Given the description of an element on the screen output the (x, y) to click on. 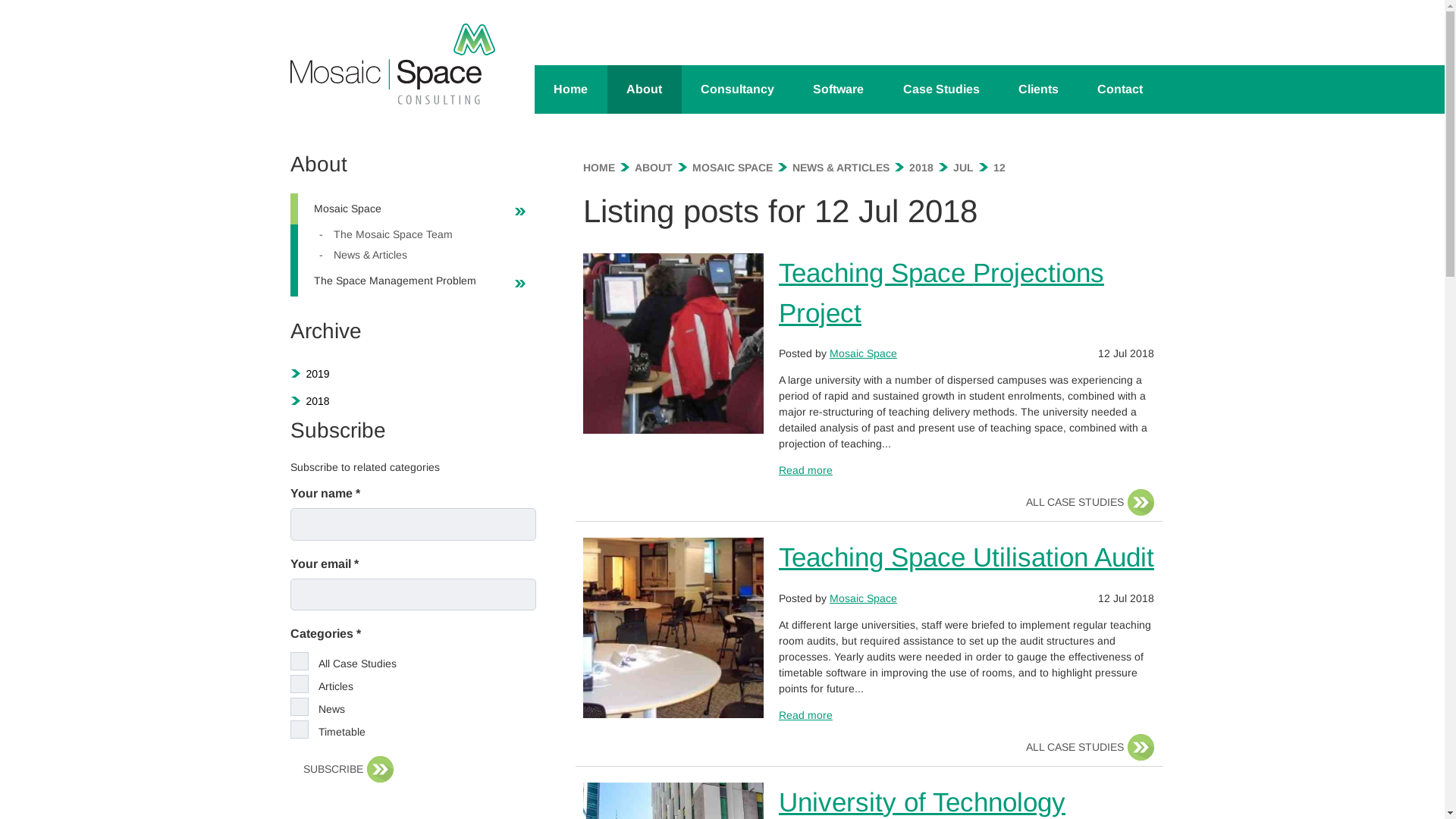
JUL Element type: text (963, 167)
ABOUT Element type: text (653, 167)
2018 Element type: text (921, 167)
Contact Element type: text (1119, 89)
MOSAIC SPACE Element type: text (732, 167)
Home Element type: text (569, 89)
Case Studies Element type: text (940, 89)
Software Element type: text (838, 89)
News & Articles Element type: text (401, 254)
ALL CASE STUDIES Element type: text (1083, 747)
Teaching Space Projections Project Element type: text (941, 292)
Read more
about Teaching Space Projections Project Element type: text (805, 470)
Teaching Space Utilisation Audit Element type: text (966, 556)
The Space Management Problem Element type: text (397, 280)
2019 Element type: text (316, 373)
NEWS & ARTICLES Element type: text (840, 167)
Mosaic Space Element type: text (863, 353)
Consultancy Element type: text (737, 89)
Clients Element type: text (1037, 89)
The Mosaic Space Team Element type: text (401, 234)
Read more
about Teaching Space Utilisation Audit Element type: text (805, 714)
ALL CASE STUDIES Element type: text (1083, 502)
About Element type: text (644, 89)
HOME Element type: text (599, 167)
Mosaic Space Element type: text (397, 208)
Mosaic Space Element type: text (863, 597)
SUBSCRIBE Element type: text (341, 769)
2018 Element type: text (316, 400)
